Given the description of an element on the screen output the (x, y) to click on. 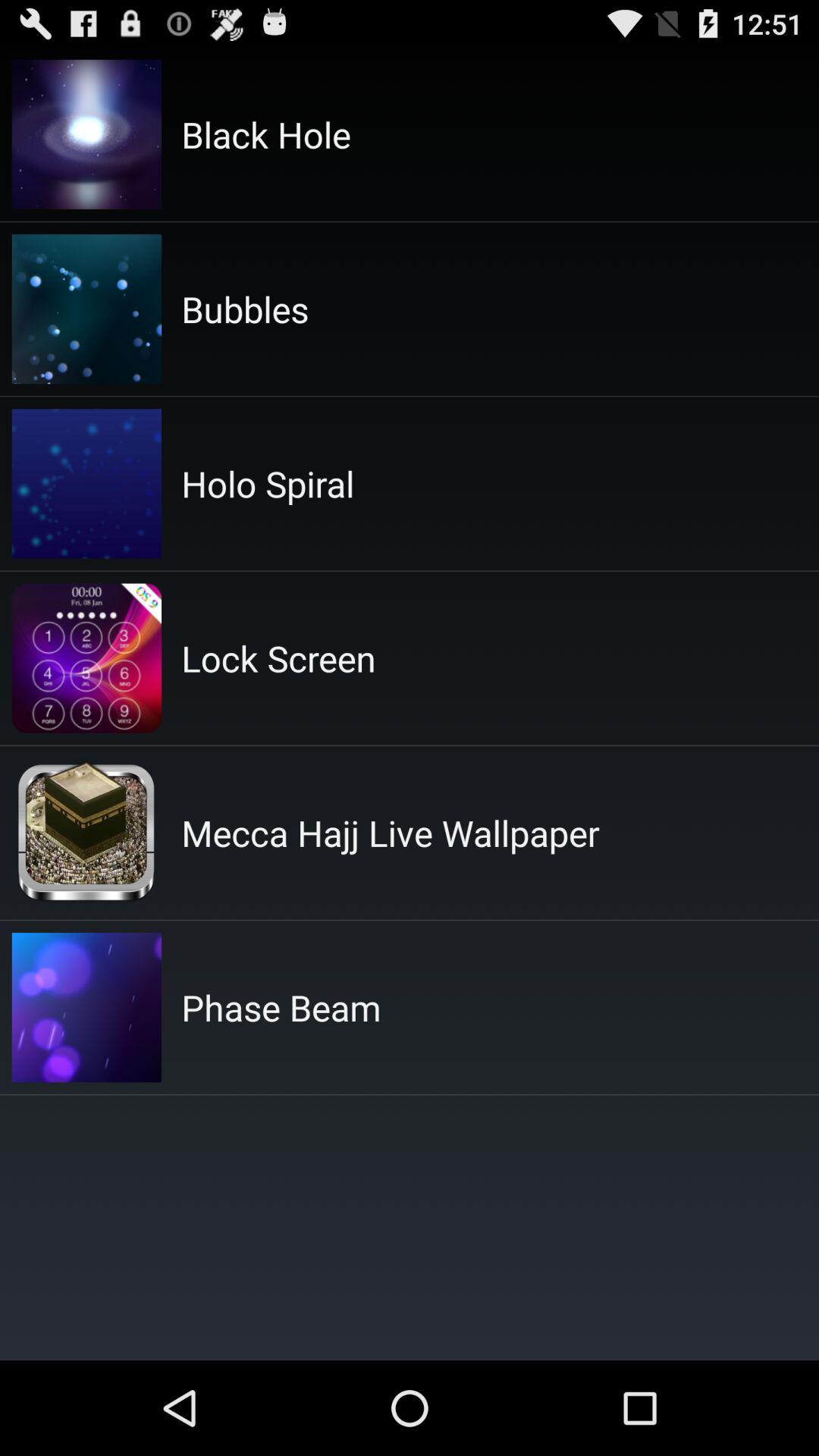
scroll until the holo spiral app (267, 483)
